Given the description of an element on the screen output the (x, y) to click on. 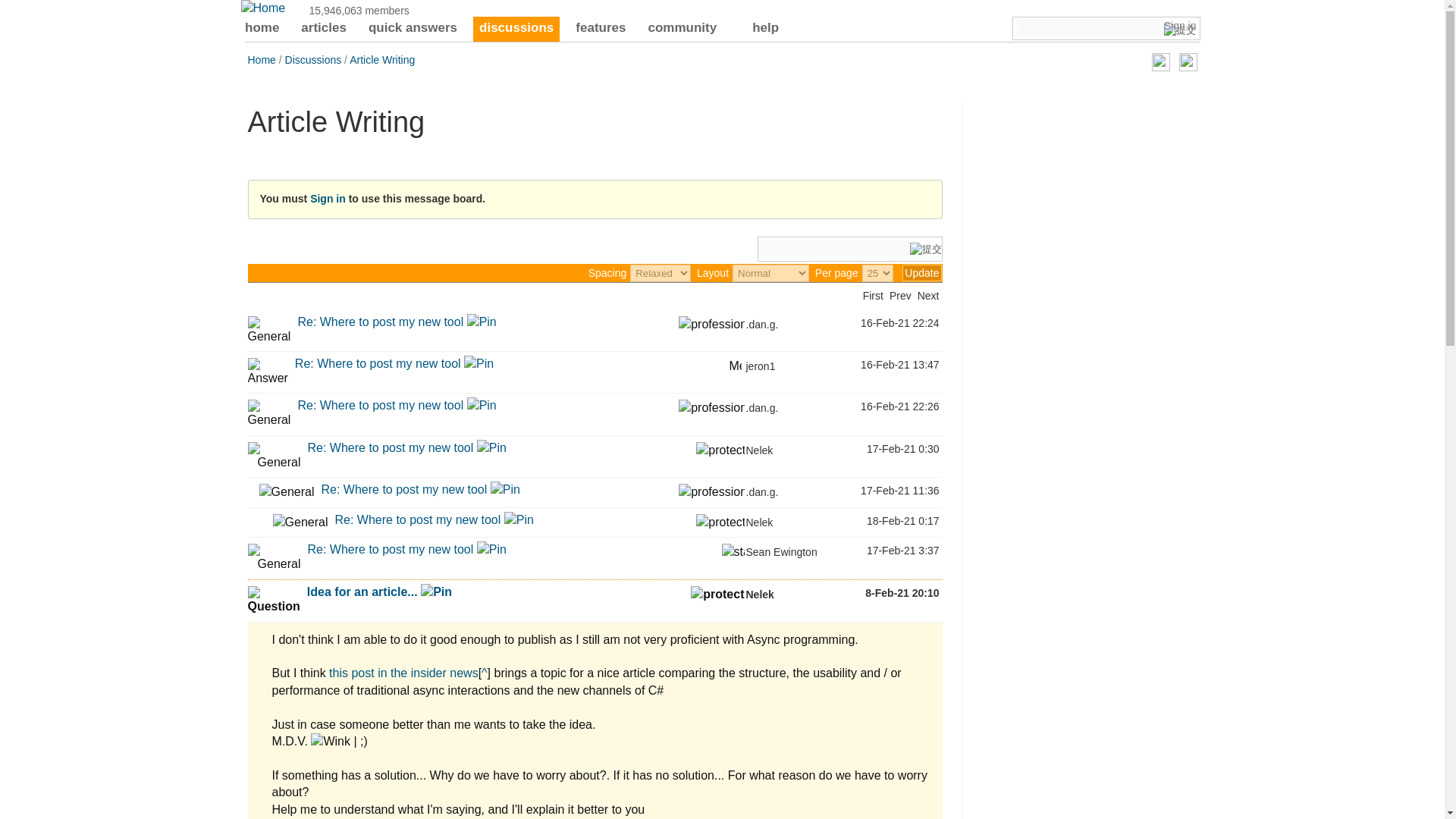
home (261, 29)
CodeProject (263, 8)
Click to pin message (481, 321)
Answer (266, 371)
General (268, 330)
quick answers (412, 29)
Update (921, 272)
articles (323, 29)
Professional (711, 324)
Member (735, 363)
discussions (516, 29)
Click to pin message (478, 363)
Sign in (1179, 25)
